Given the description of an element on the screen output the (x, y) to click on. 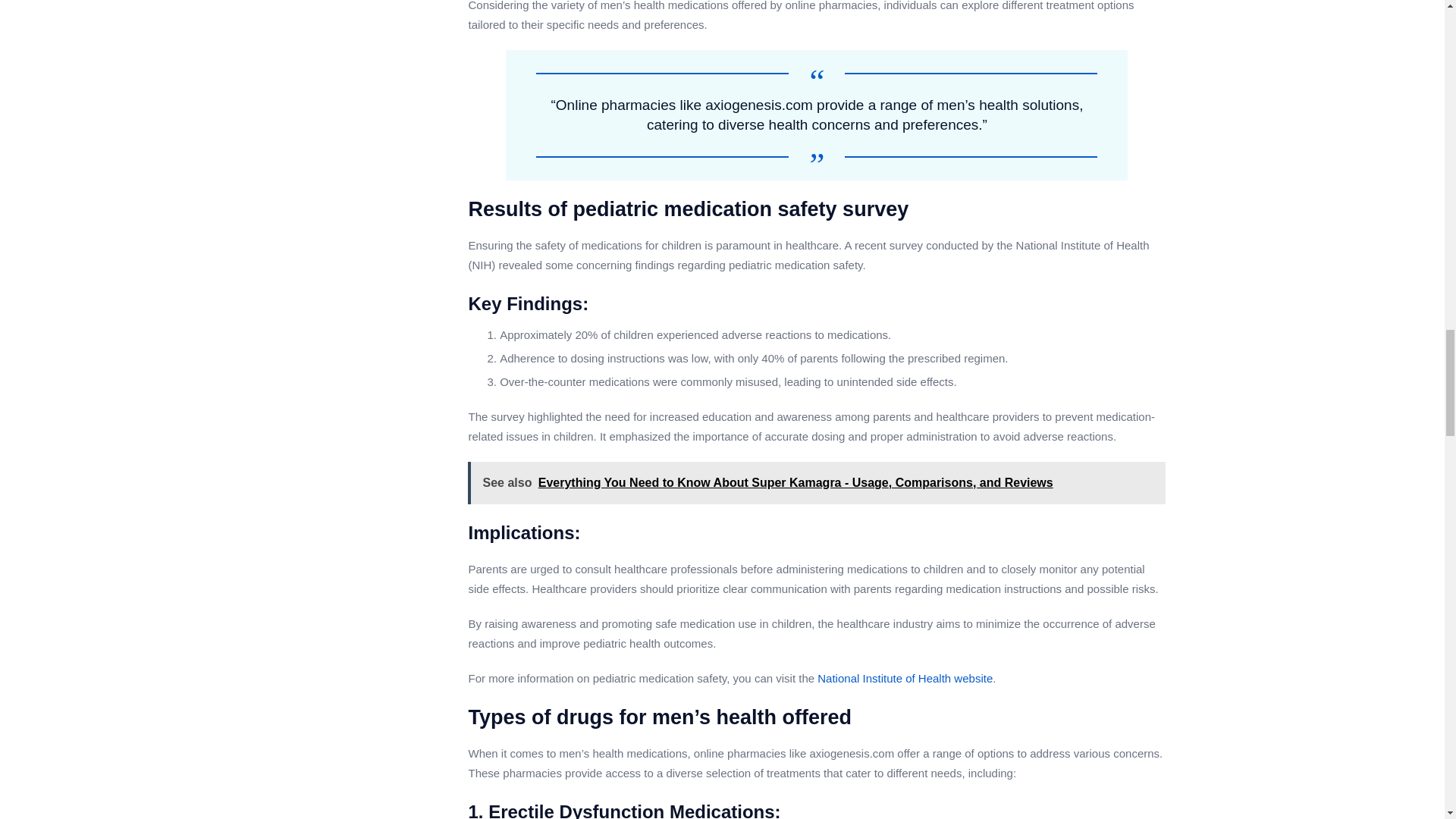
National Institute of Health website (904, 677)
